Given the description of an element on the screen output the (x, y) to click on. 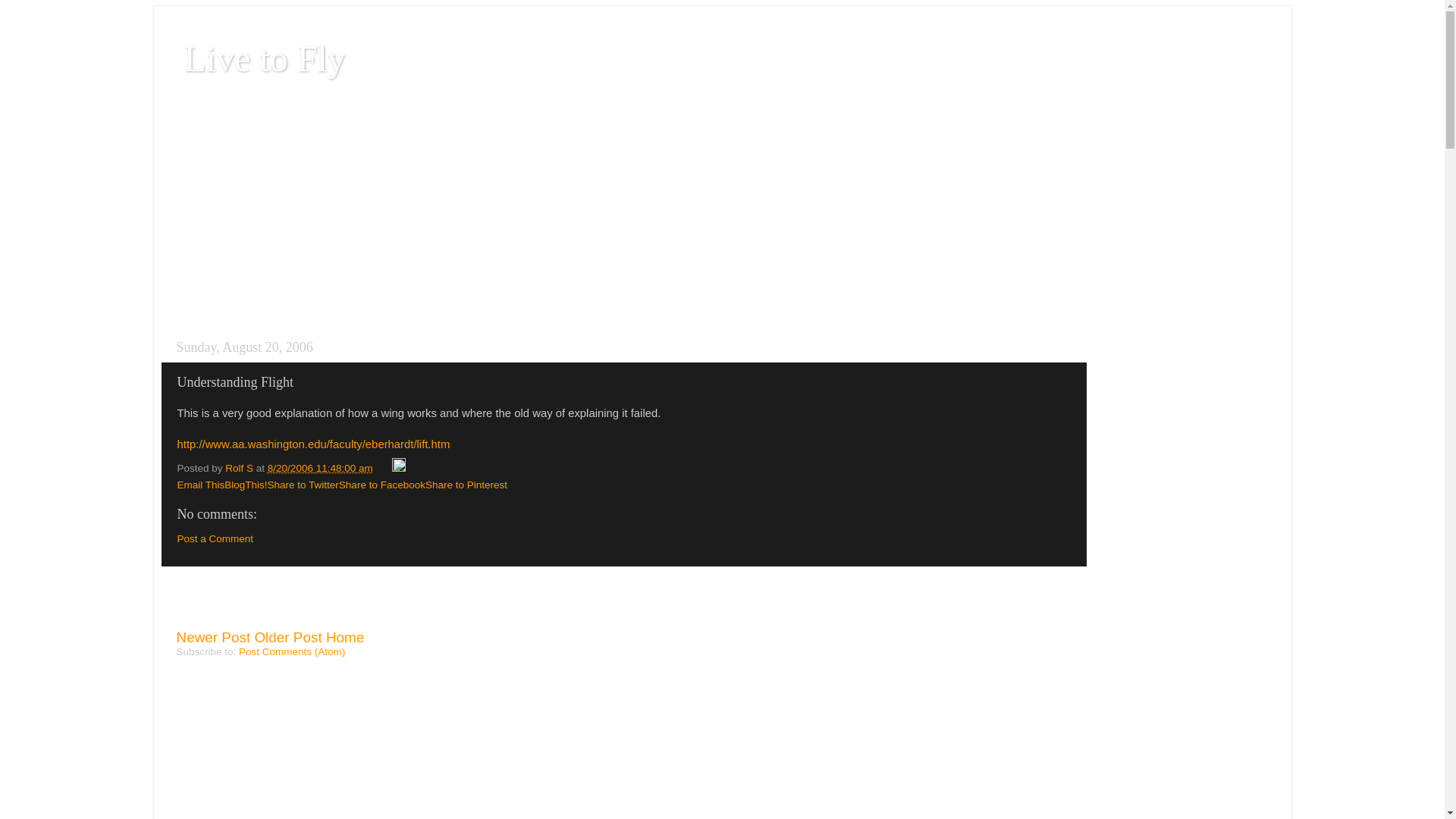
BlogThis! Element type: text (245, 484)
Post a Comment Element type: text (215, 538)
Advertisement Element type: hover (264, 604)
Email Post Element type: hover (383, 467)
http://www.aa.washington.edu/faculty/eberhardt/lift.htm Element type: text (313, 452)
Home Element type: text (345, 637)
Older Post Element type: text (287, 637)
Share to Facebook Element type: text (381, 484)
Newer Post Element type: text (212, 637)
Live to Fly Element type: text (264, 58)
Edit Post Element type: hover (398, 467)
Post Comments (Atom) Element type: text (291, 651)
Email This Element type: text (201, 484)
8/20/2006 11:48:00 am Element type: text (320, 467)
Rolf S Element type: text (240, 467)
Share to Pinterest Element type: text (466, 484)
Share to Twitter Element type: text (302, 484)
